Given the description of an element on the screen output the (x, y) to click on. 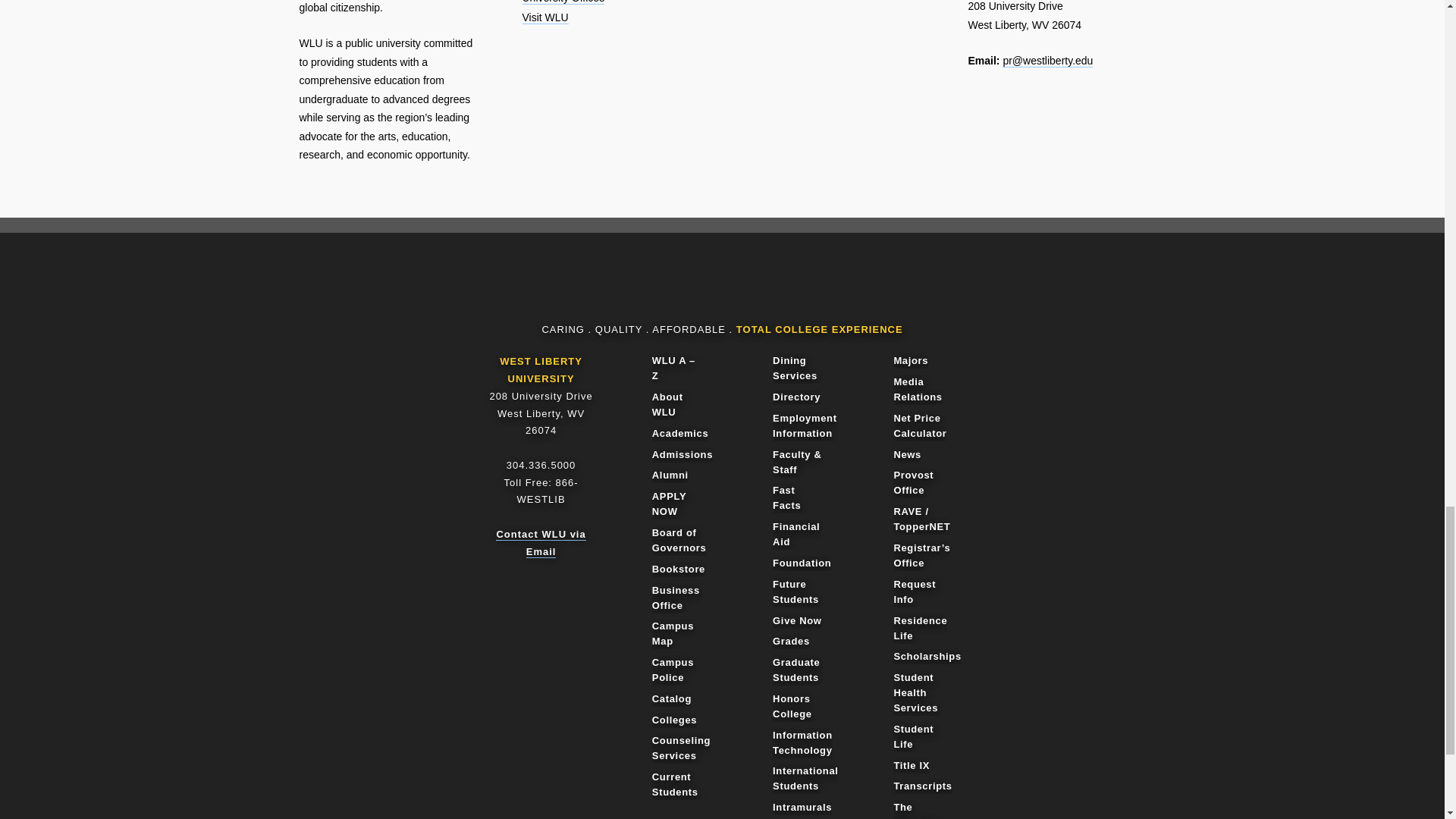
Contact WLU via Email (540, 542)
WLU (716, 288)
University Offices (562, 2)
Visit WLU (544, 17)
WEST LIBERTY UNIVERSITY (540, 369)
